Given the description of an element on the screen output the (x, y) to click on. 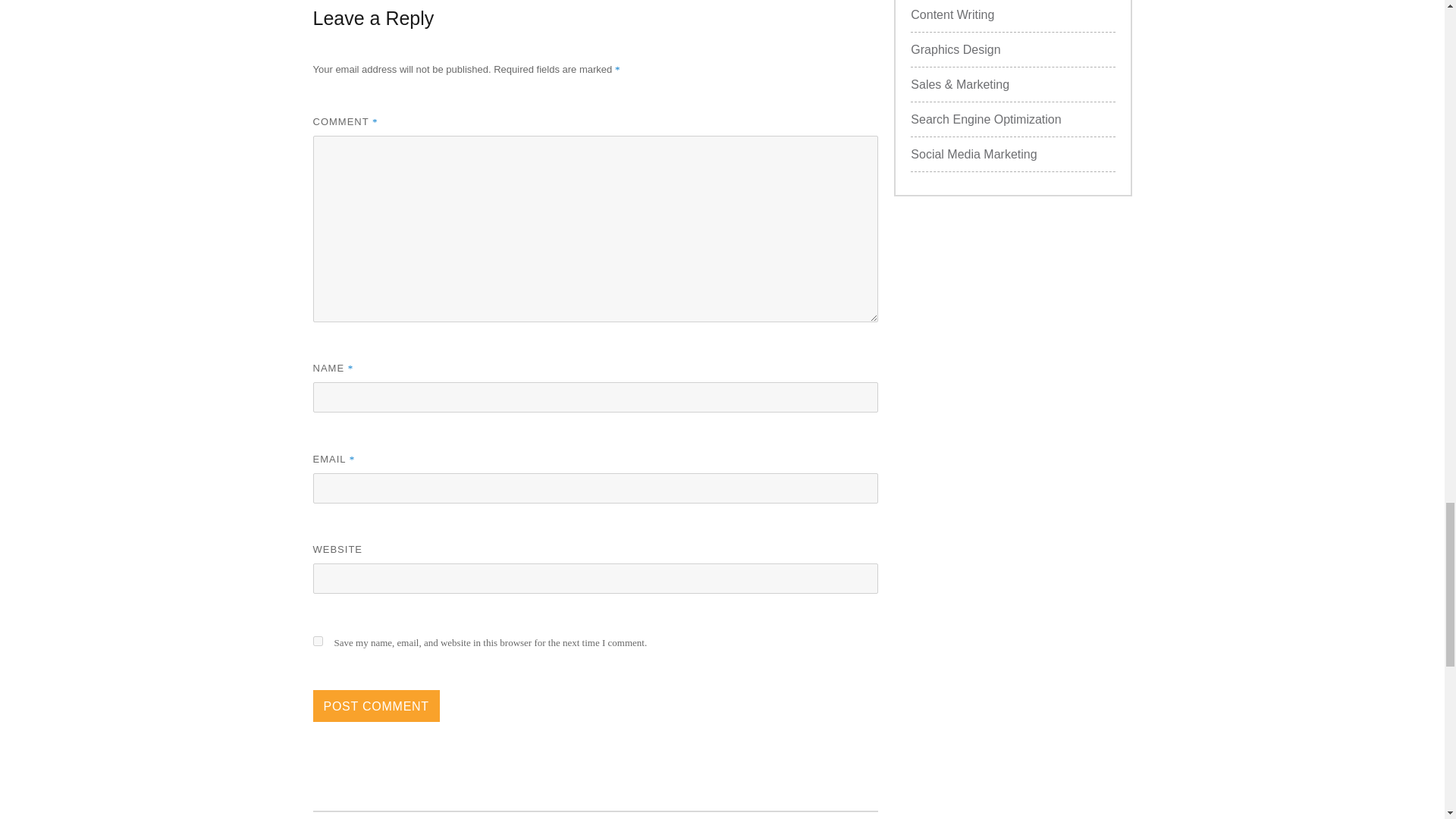
Post Comment (376, 705)
yes (317, 641)
